Given the description of an element on the screen output the (x, y) to click on. 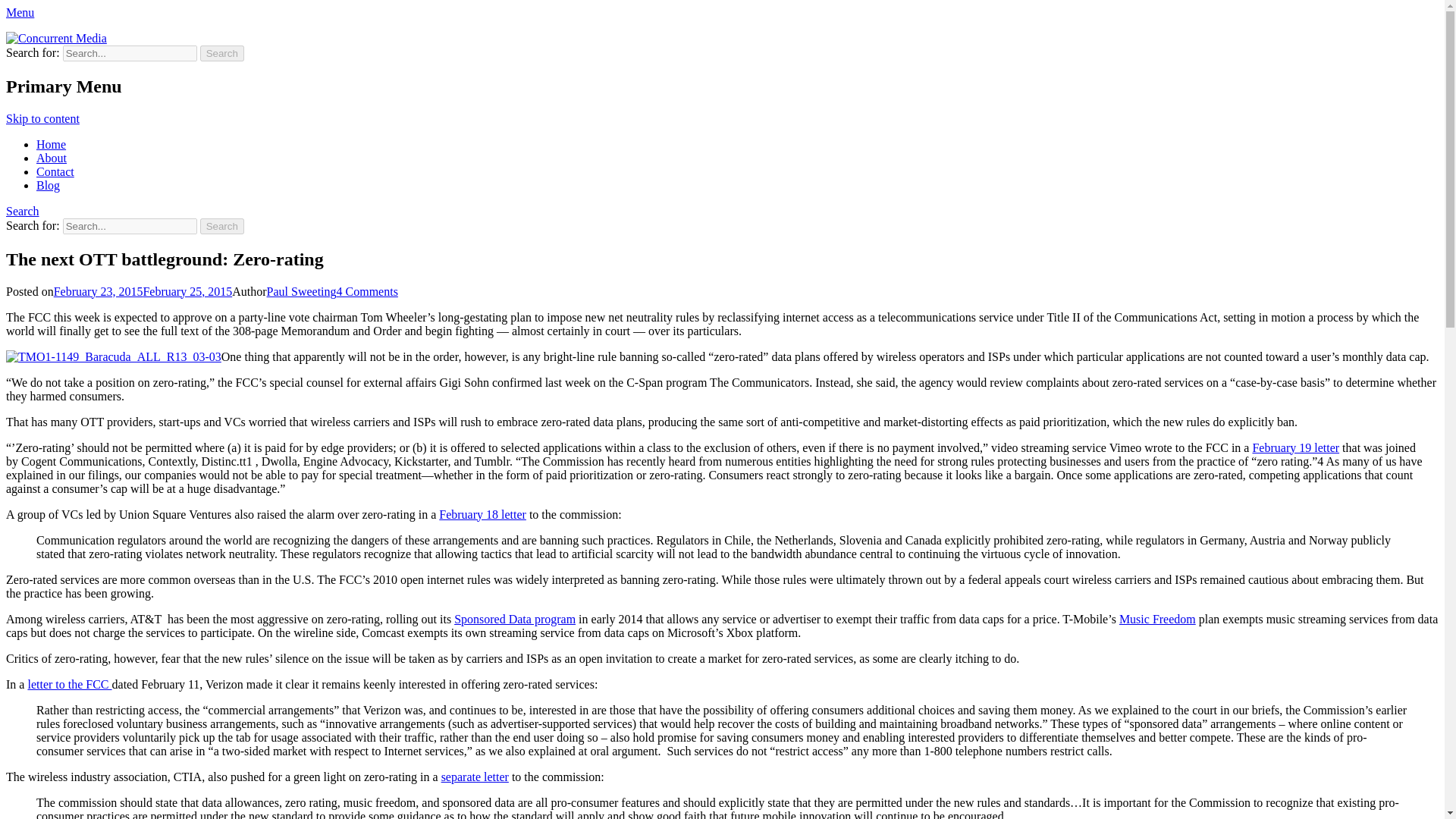
Music Freedom (1157, 618)
Concurrent Media (49, 38)
February 23, 2015February 25, 2015 (142, 291)
Home (50, 144)
Menu (19, 11)
letter to the FCC (69, 684)
Paul Sweeting (301, 291)
About (51, 157)
Contact (55, 171)
Blog (47, 185)
Search (222, 53)
separate letter (474, 776)
February 19 letter (1295, 447)
Search (222, 226)
Search for: (129, 53)
